Given the description of an element on the screen output the (x, y) to click on. 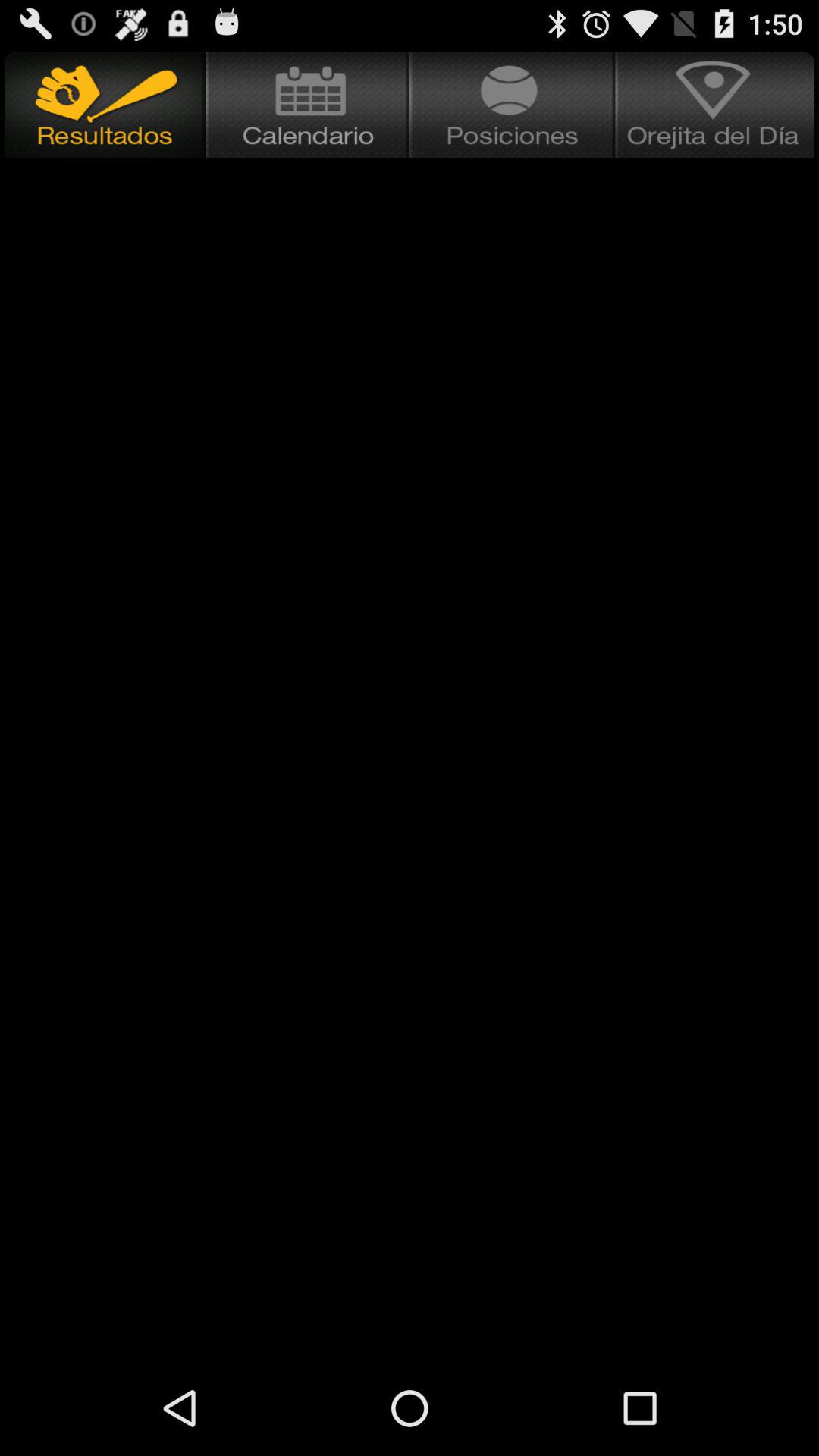
select item at the top right corner (717, 104)
